Given the description of an element on the screen output the (x, y) to click on. 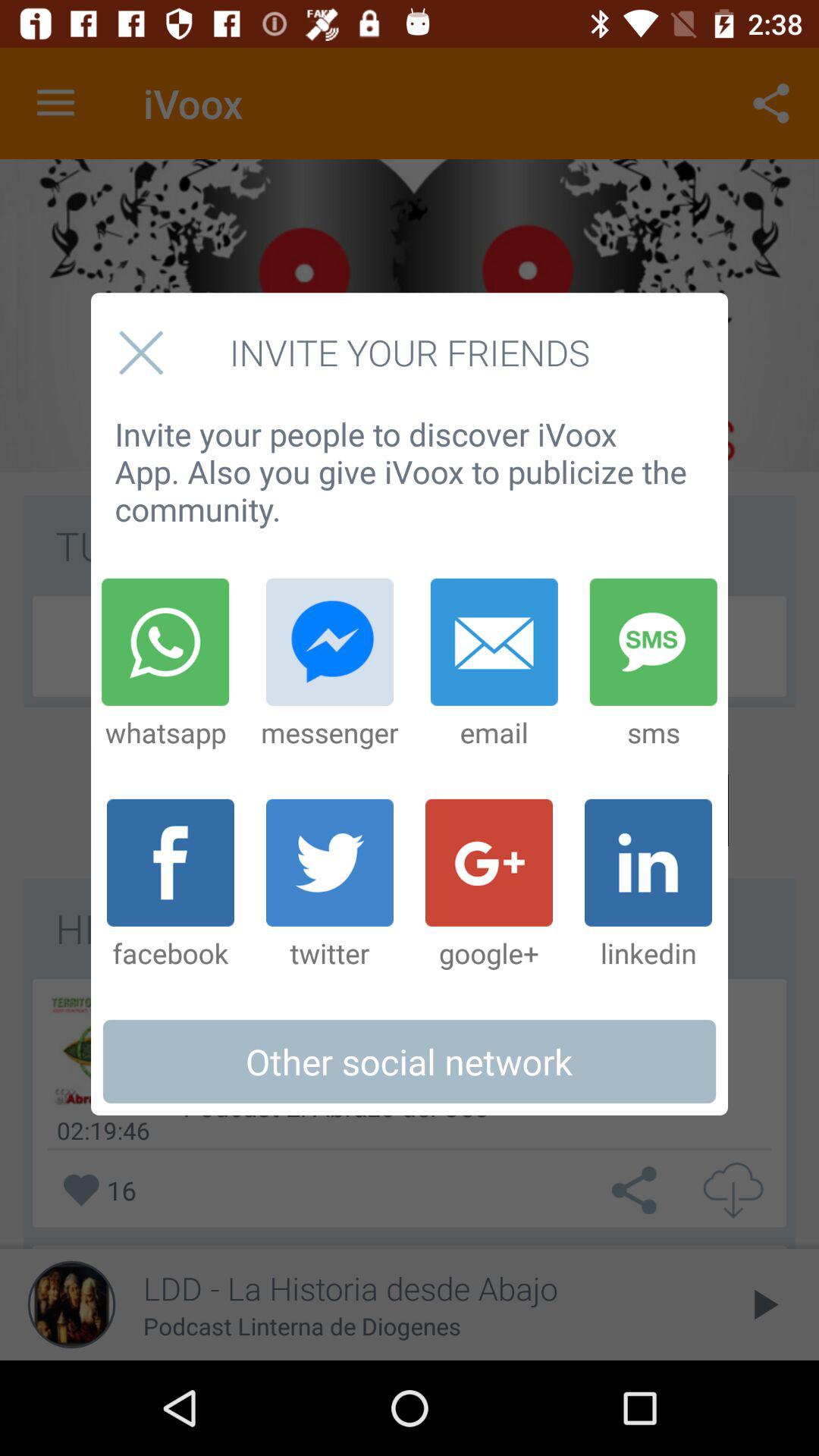
turn off item below the invite your people (493, 664)
